Given the description of an element on the screen output the (x, y) to click on. 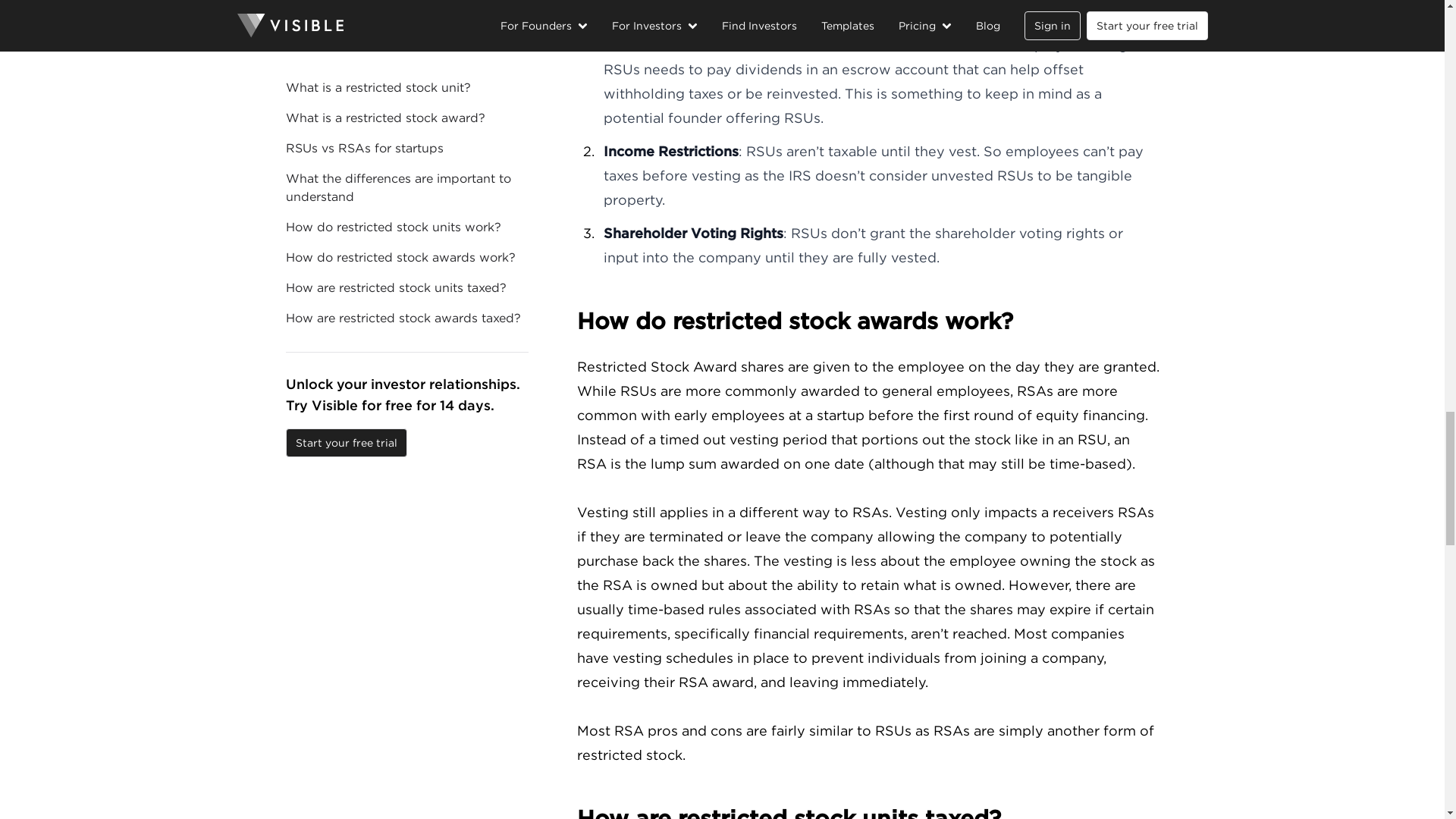
How do restricted stock awards work? (867, 321)
How are restricted stock units taxed? (867, 811)
